Given the description of an element on the screen output the (x, y) to click on. 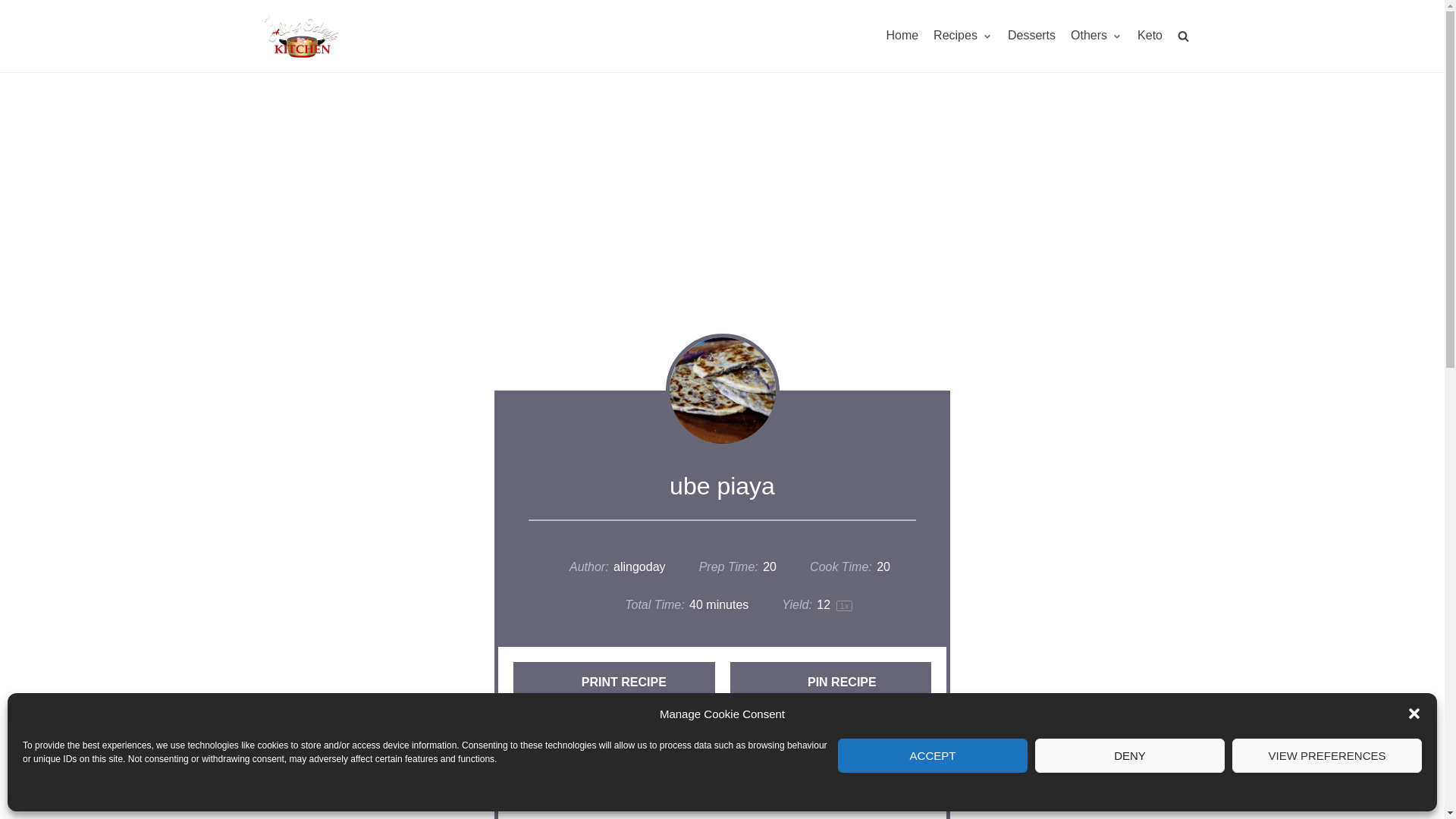
Home (901, 35)
ACCEPT (932, 755)
Others (1096, 35)
Search (1156, 69)
Aling Odays Kitchen (301, 35)
VIEW PREFERENCES (1326, 755)
Skip to content (15, 7)
Keto (1149, 35)
Desserts (1031, 35)
DENY (1129, 755)
